Given the description of an element on the screen output the (x, y) to click on. 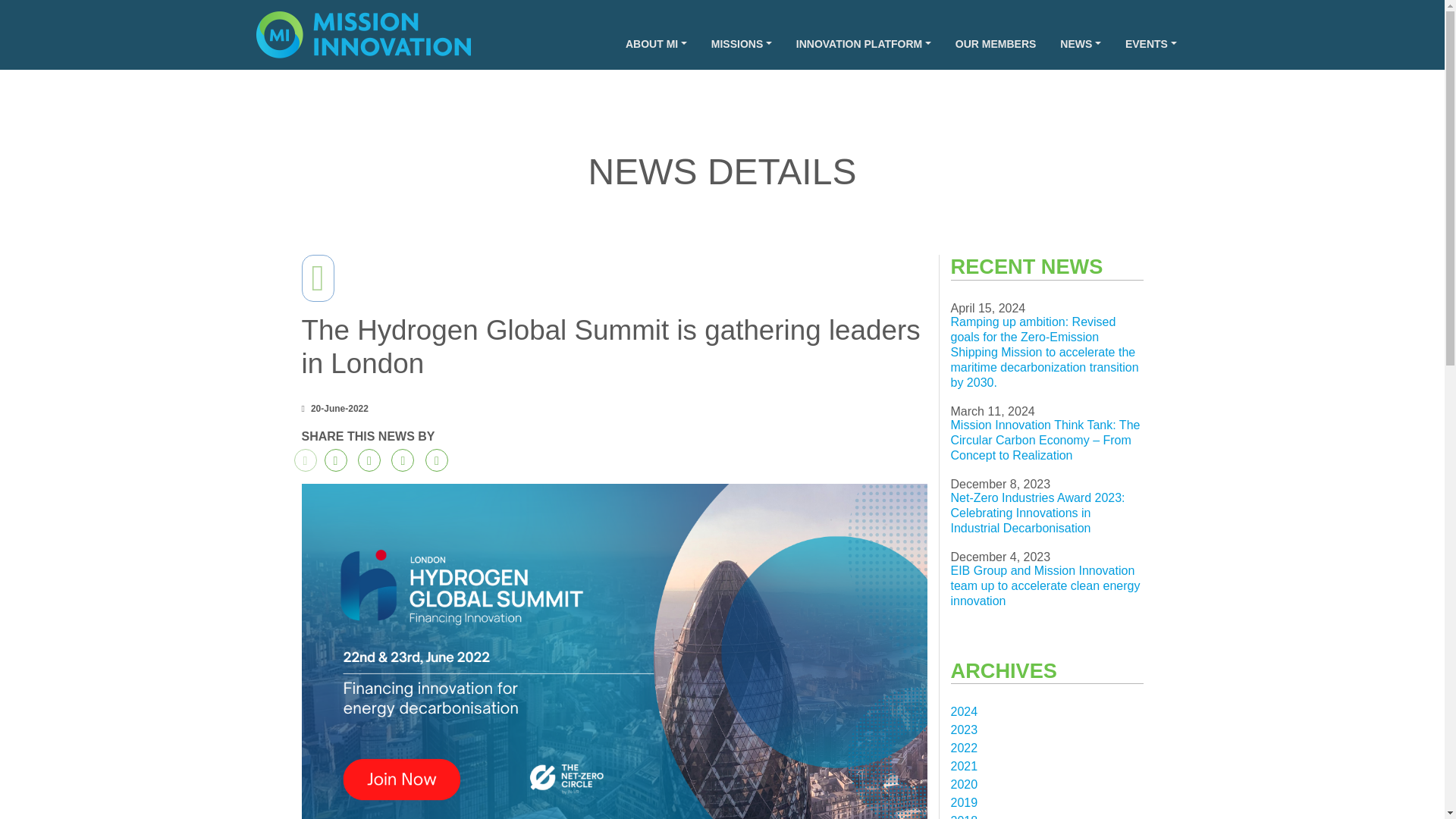
OUR MEMBERS (995, 44)
ABOUT MI (655, 44)
Missions (741, 44)
MISSIONS (741, 44)
INNOVATION PLATFORM (863, 44)
NEWS (1080, 44)
EVENTS (1151, 44)
About MI (655, 44)
